Given the description of an element on the screen output the (x, y) to click on. 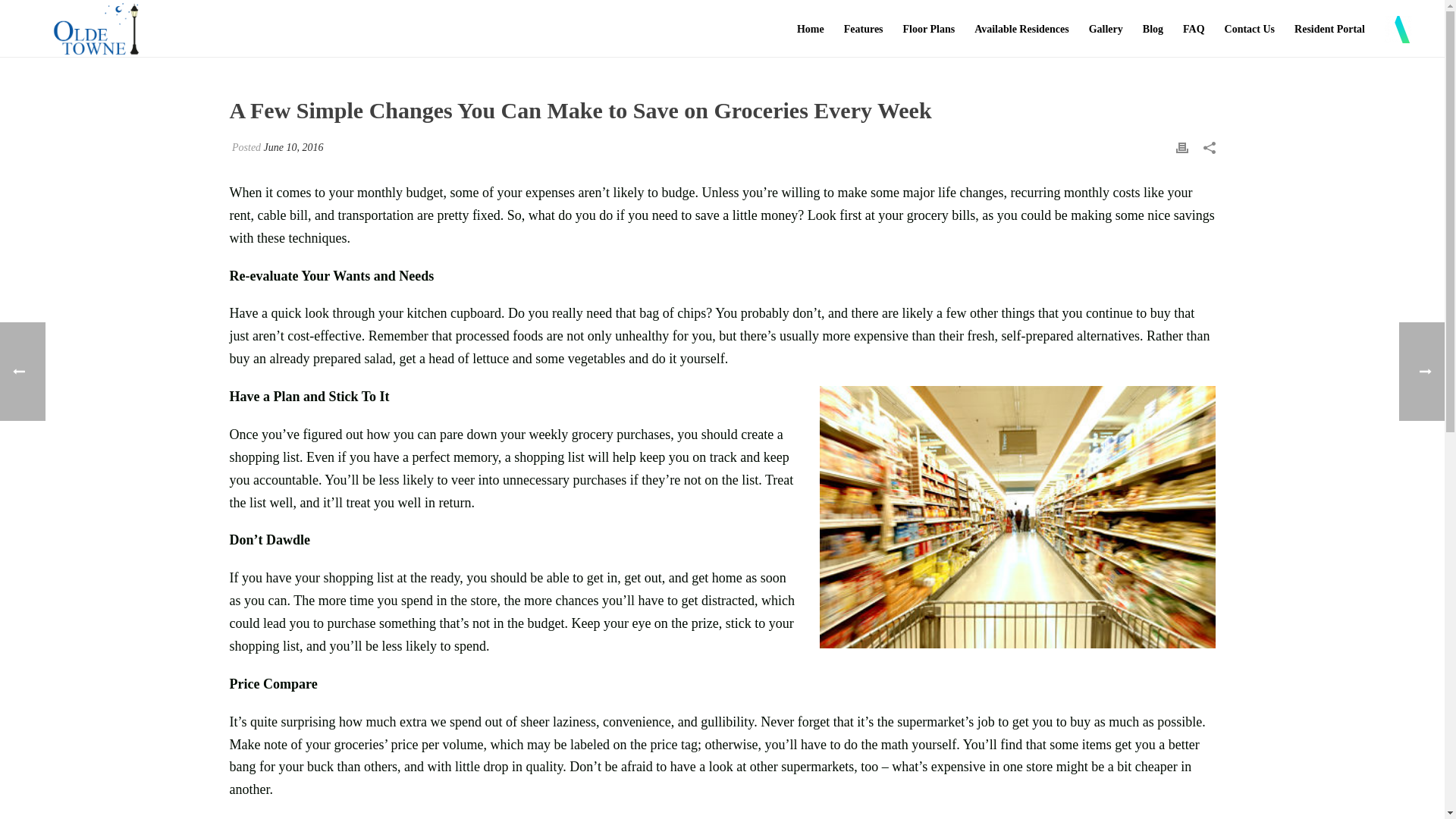
FAQ (1193, 29)
Gallery (1105, 29)
Contact Us (1249, 29)
Gallery (1105, 29)
Home (810, 29)
Blog (1152, 29)
Features (863, 29)
Resident Portal (1329, 29)
Available Residences (1020, 29)
Contact Us (1249, 29)
FAQ (1193, 29)
Features (863, 29)
Floor Plans (929, 29)
June 10, 2016 (293, 147)
Home (810, 29)
